Given the description of an element on the screen output the (x, y) to click on. 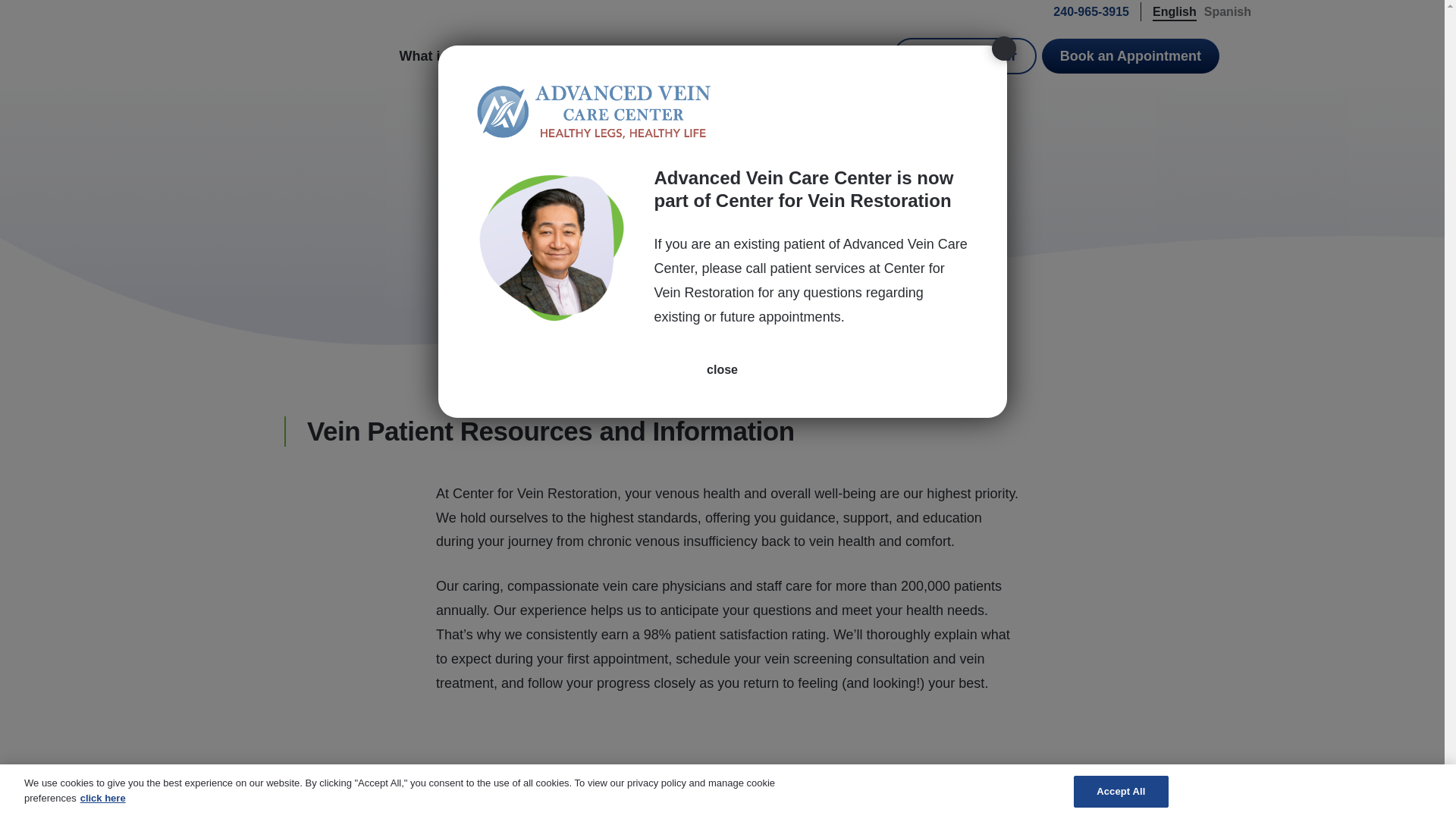
English (1174, 10)
About Us (727, 55)
close (722, 369)
Spanish (1227, 10)
Treatments (624, 55)
What is Vein Disease? (479, 55)
240-965-3915 (1082, 11)
